Given the description of an element on the screen output the (x, y) to click on. 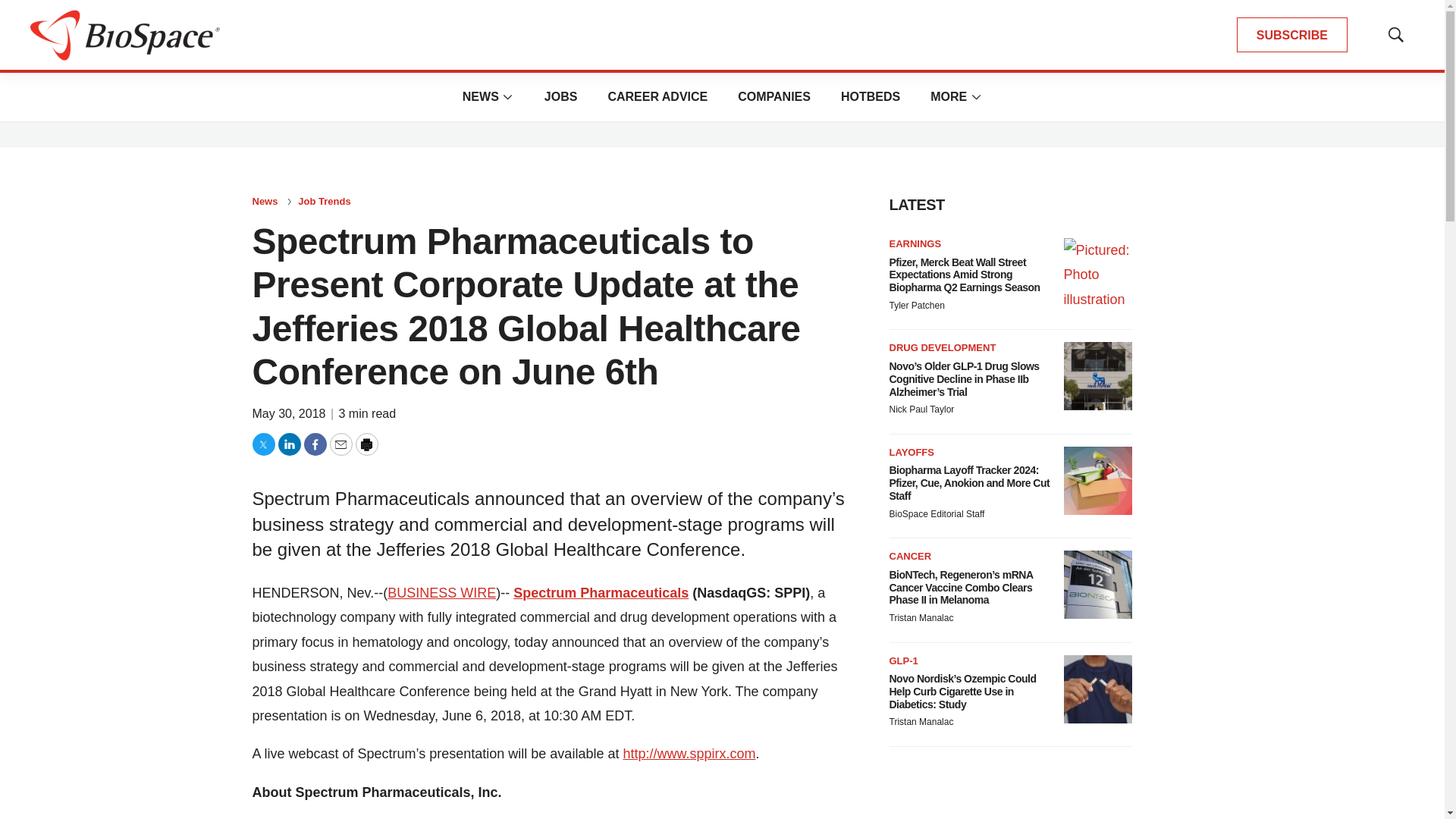
SUBSCRIBE (1292, 34)
Show Search (1395, 34)
NEWS (481, 96)
